Given the description of an element on the screen output the (x, y) to click on. 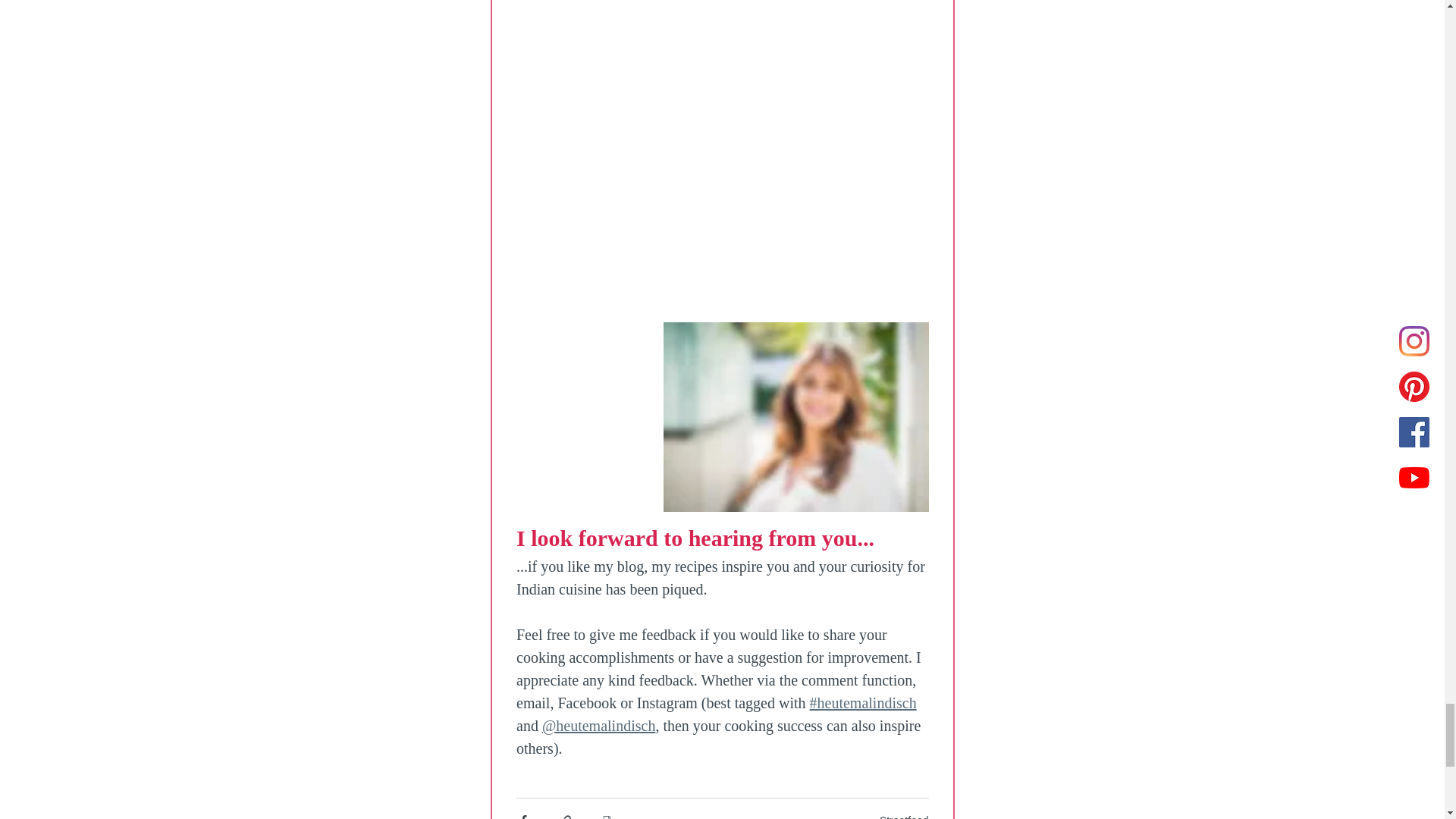
Streetfood (903, 816)
